Given the description of an element on the screen output the (x, y) to click on. 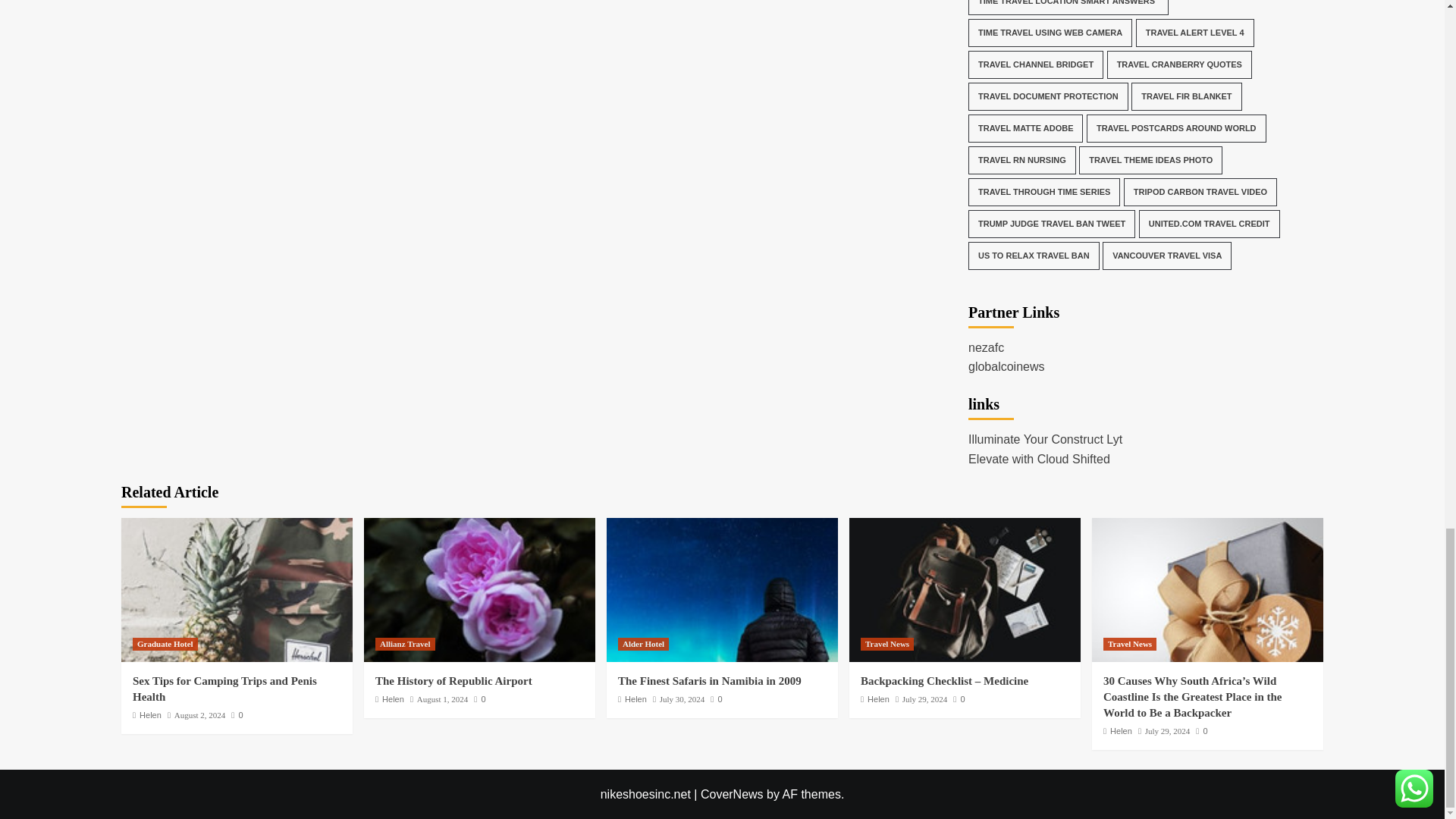
The Finest Safaris in Namibia in 2009 (722, 589)
Sex Tips for Camping Trips and Penis Health (236, 589)
The History of Republic Airport (479, 589)
